Given the description of an element on the screen output the (x, y) to click on. 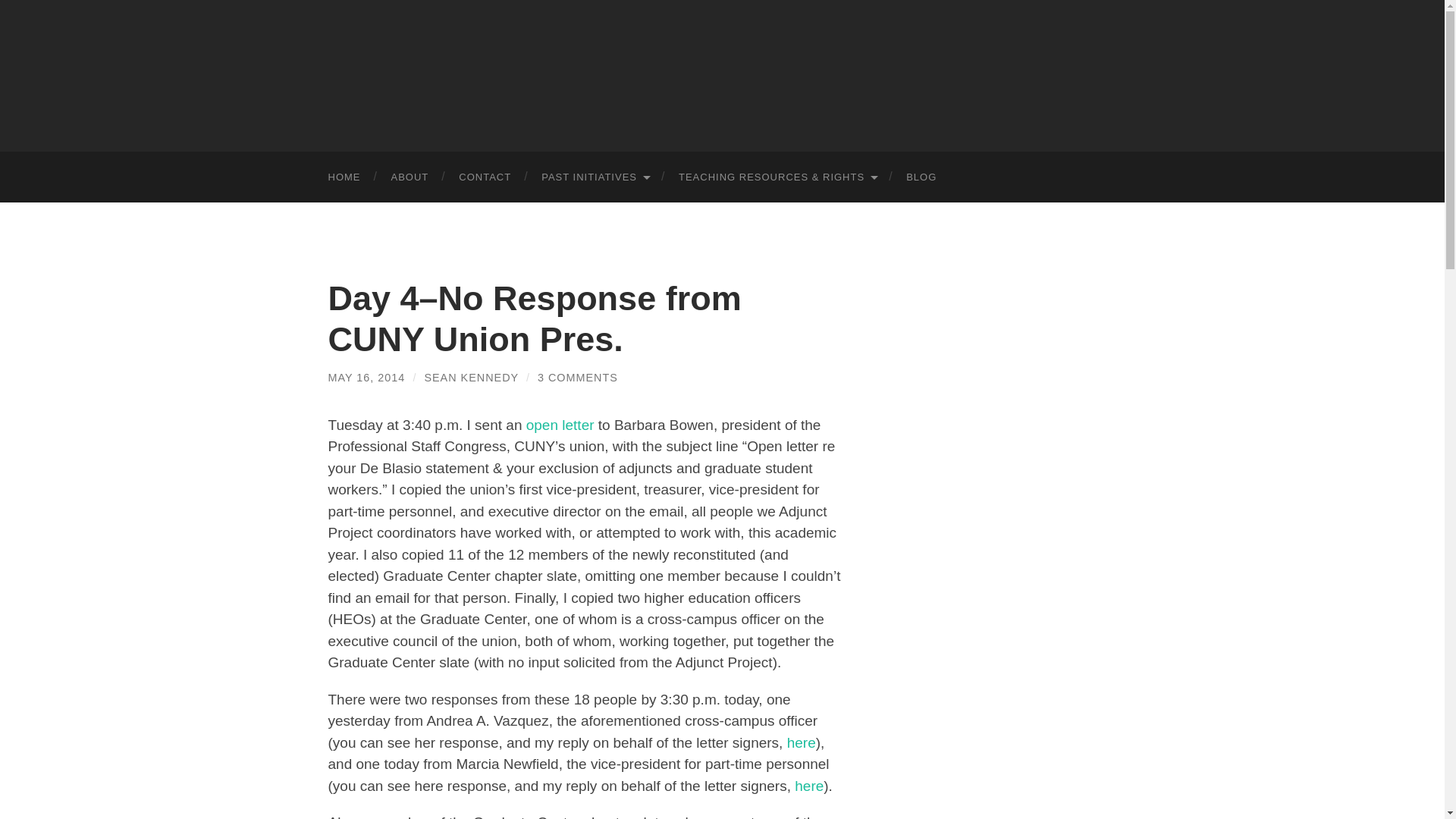
BLOG (921, 176)
HOME (344, 176)
ABOUT (409, 176)
CONTACT (484, 176)
PAST INITIATIVES (594, 176)
Posts by Sean Kennedy (470, 377)
